Given the description of an element on the screen output the (x, y) to click on. 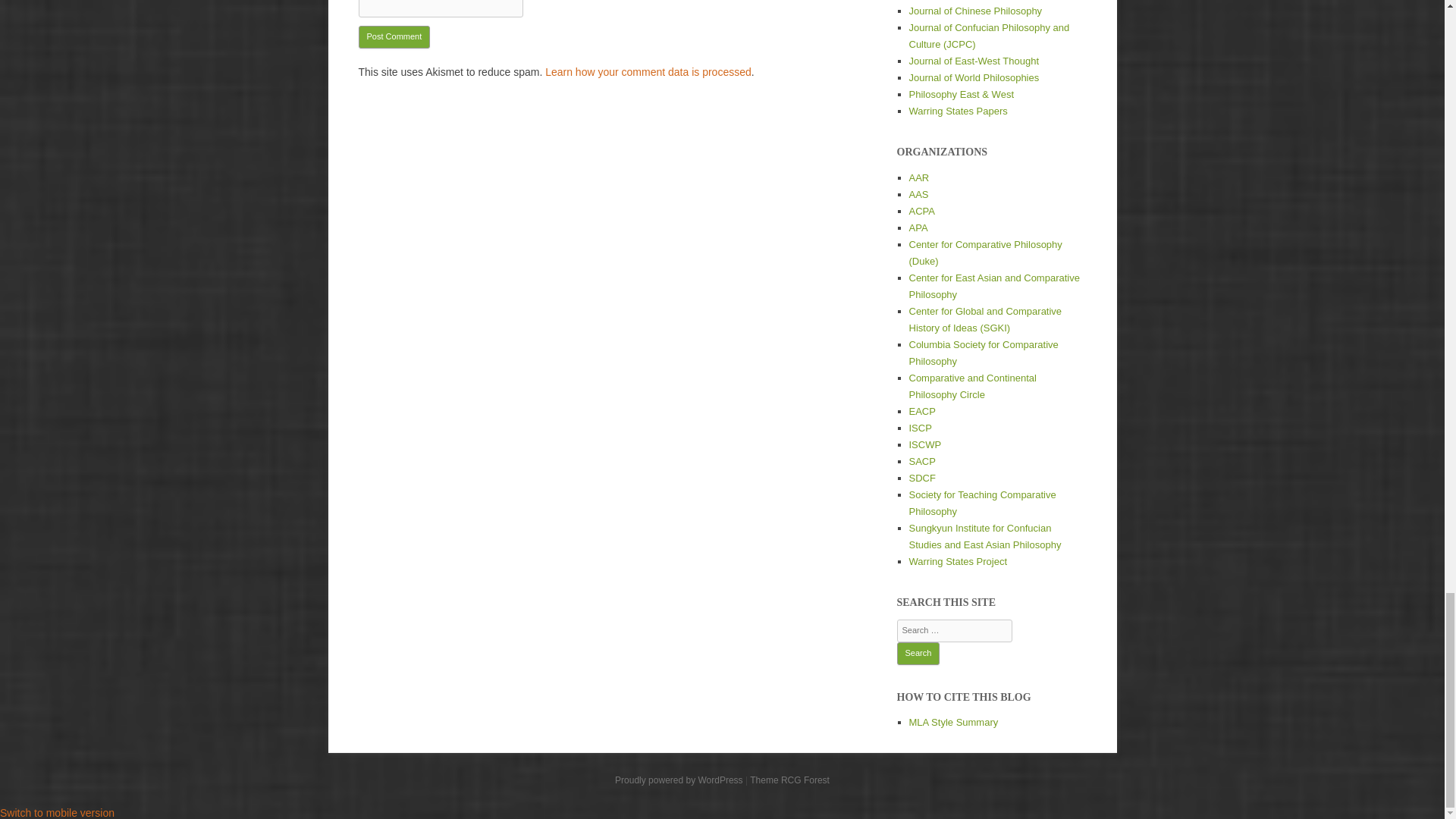
Post Comment (393, 36)
Search (917, 653)
Post Comment (393, 36)
Search (917, 653)
Learn how your comment data is processed (647, 71)
Semantic Personal Publishing Platform (678, 779)
Sinological Development Charitable Foundation (921, 478)
European Association for Chinese Philosophy (921, 410)
American Academy of Religion (918, 177)
